Given the description of an element on the screen output the (x, y) to click on. 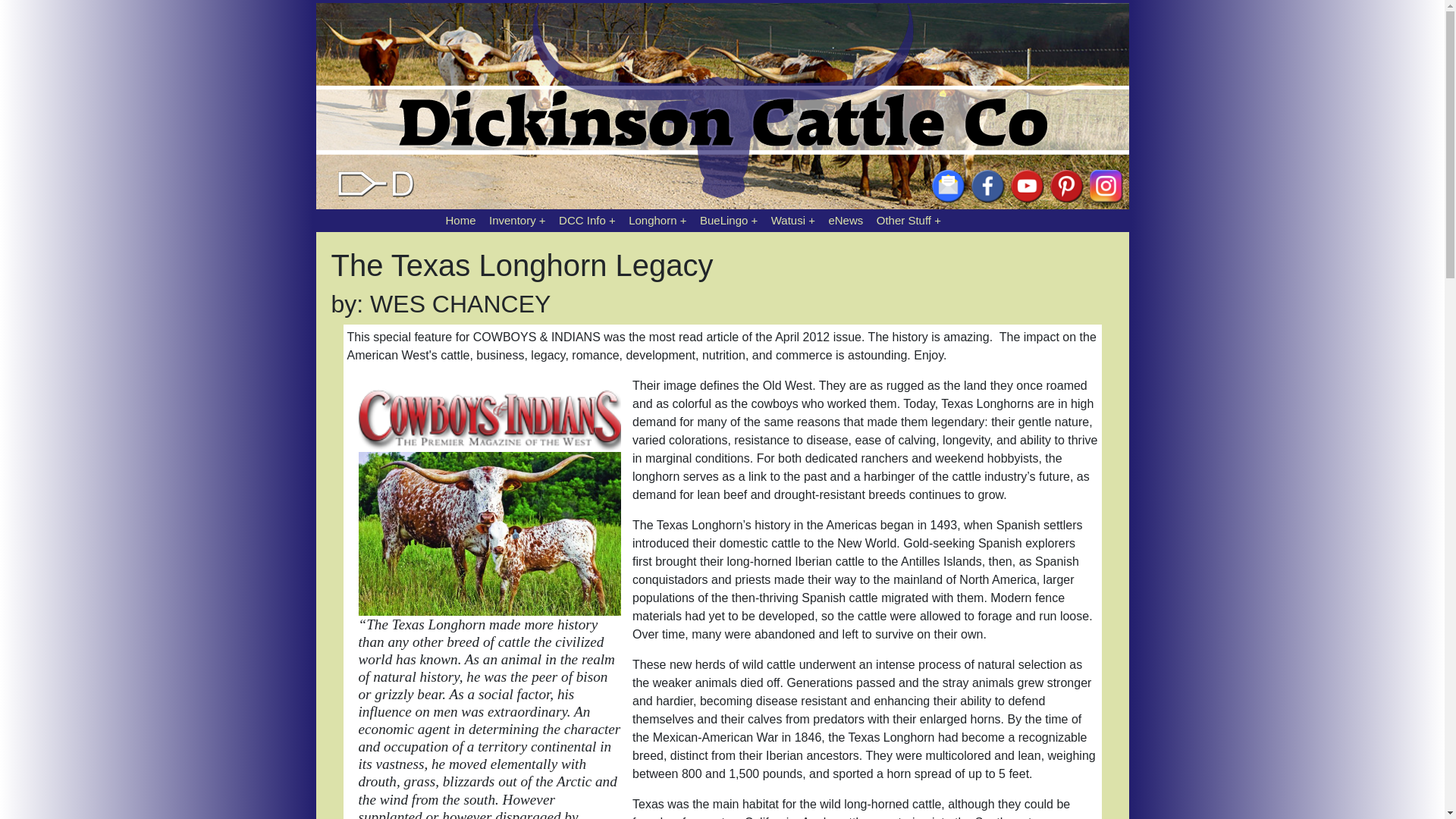
Inventory (517, 220)
Information about Dickinson Cattle Co. (587, 220)
Home (460, 220)
Home (460, 220)
Inventory (517, 220)
DCC Info (587, 220)
Longhorn (657, 220)
